Given the description of an element on the screen output the (x, y) to click on. 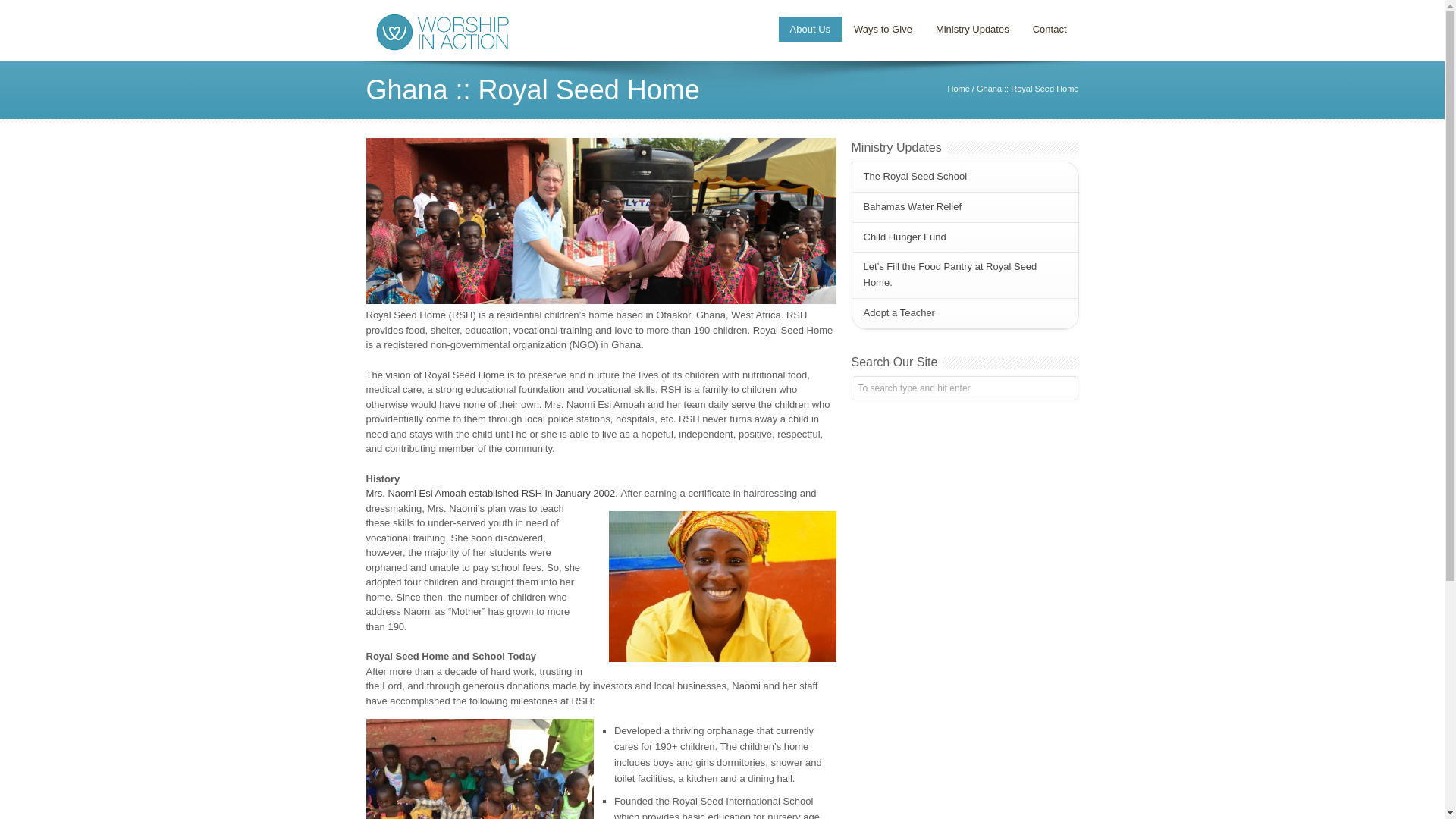
To search type and hit enter (963, 387)
To search type and hit enter (963, 387)
Home (958, 88)
Contact (1050, 28)
Child Hunger Fund (903, 236)
Ministry Updates (972, 28)
Mrs. Naomi Esi Amoah established RSH in January 2002. (492, 492)
Bahamas Water Relief (911, 206)
The Royal Seed School (914, 175)
Adopt a Teacher (898, 312)
